Given the description of an element on the screen output the (x, y) to click on. 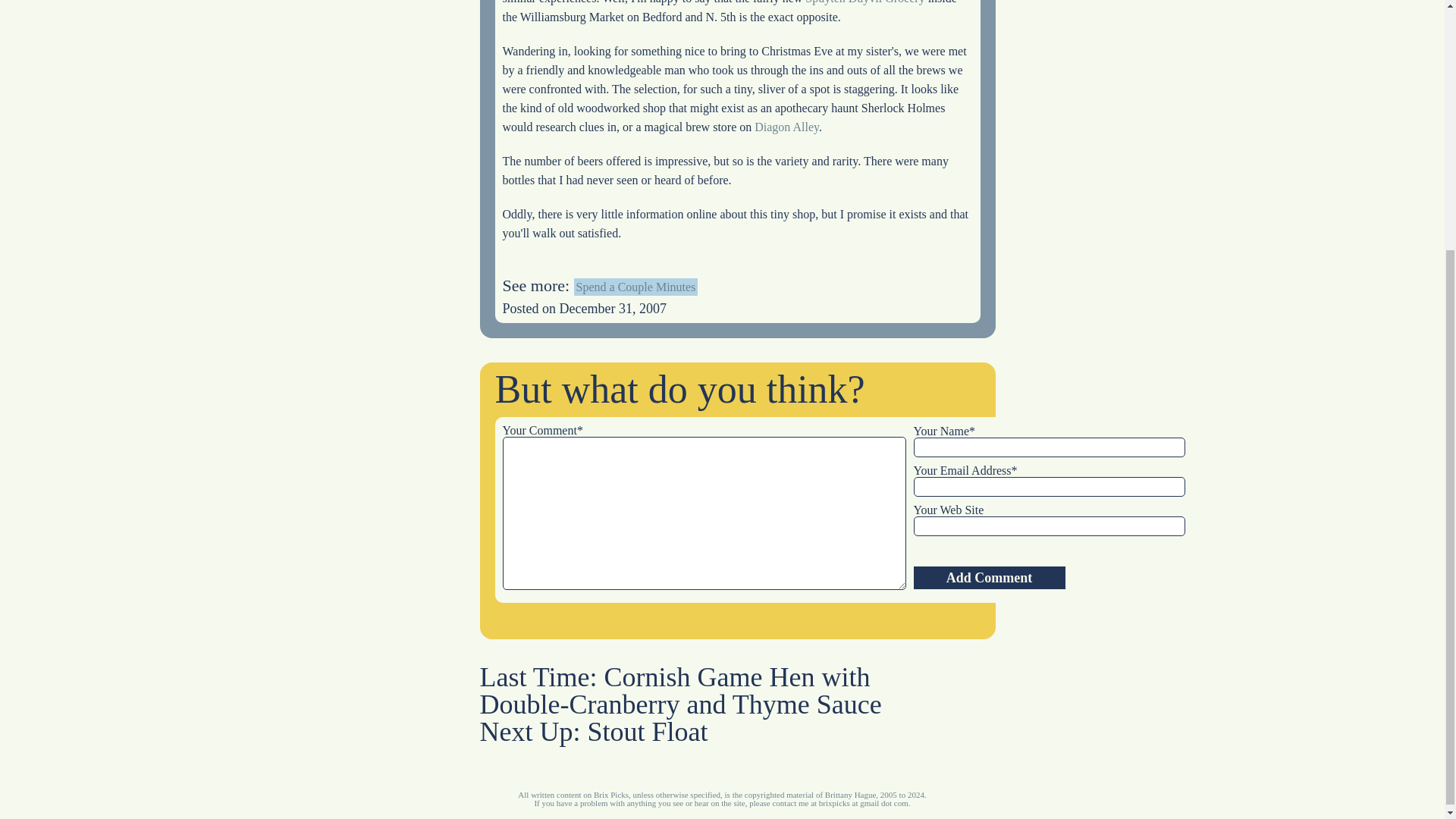
Add Comment (988, 577)
Add Comment (988, 577)
Spuyten Duyvil Grocery (864, 2)
Spend a Couple Minutes (635, 286)
Cornish Game Hen with Double-Cranberry and Thyme Sauce (679, 690)
Diagon Alley (786, 126)
Stout Float (646, 731)
